Given the description of an element on the screen output the (x, y) to click on. 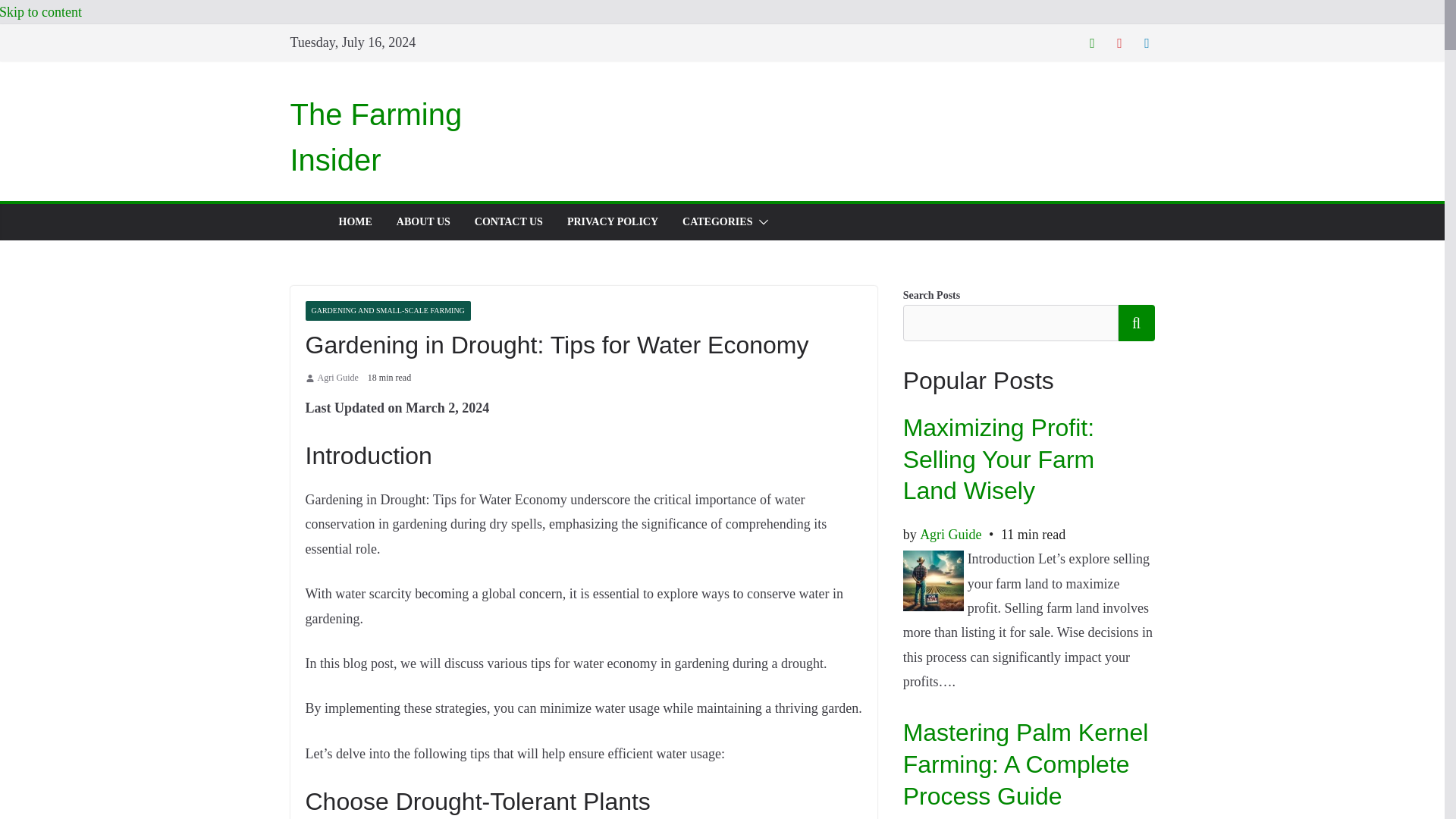
CATEGORIES (717, 221)
ABOUT US (422, 221)
The Farming Insider (375, 136)
Pinterest (1119, 43)
CONTACT US (508, 221)
Agri Guide (337, 378)
Twitter (1091, 43)
PRIVACY POLICY (612, 221)
Agri Guide (337, 378)
HOME (354, 221)
GARDENING AND SMALL-SCALE FARMING (387, 311)
Skip to content (40, 11)
LinkedIn (1146, 43)
The Farming Insider (375, 136)
